Given the description of an element on the screen output the (x, y) to click on. 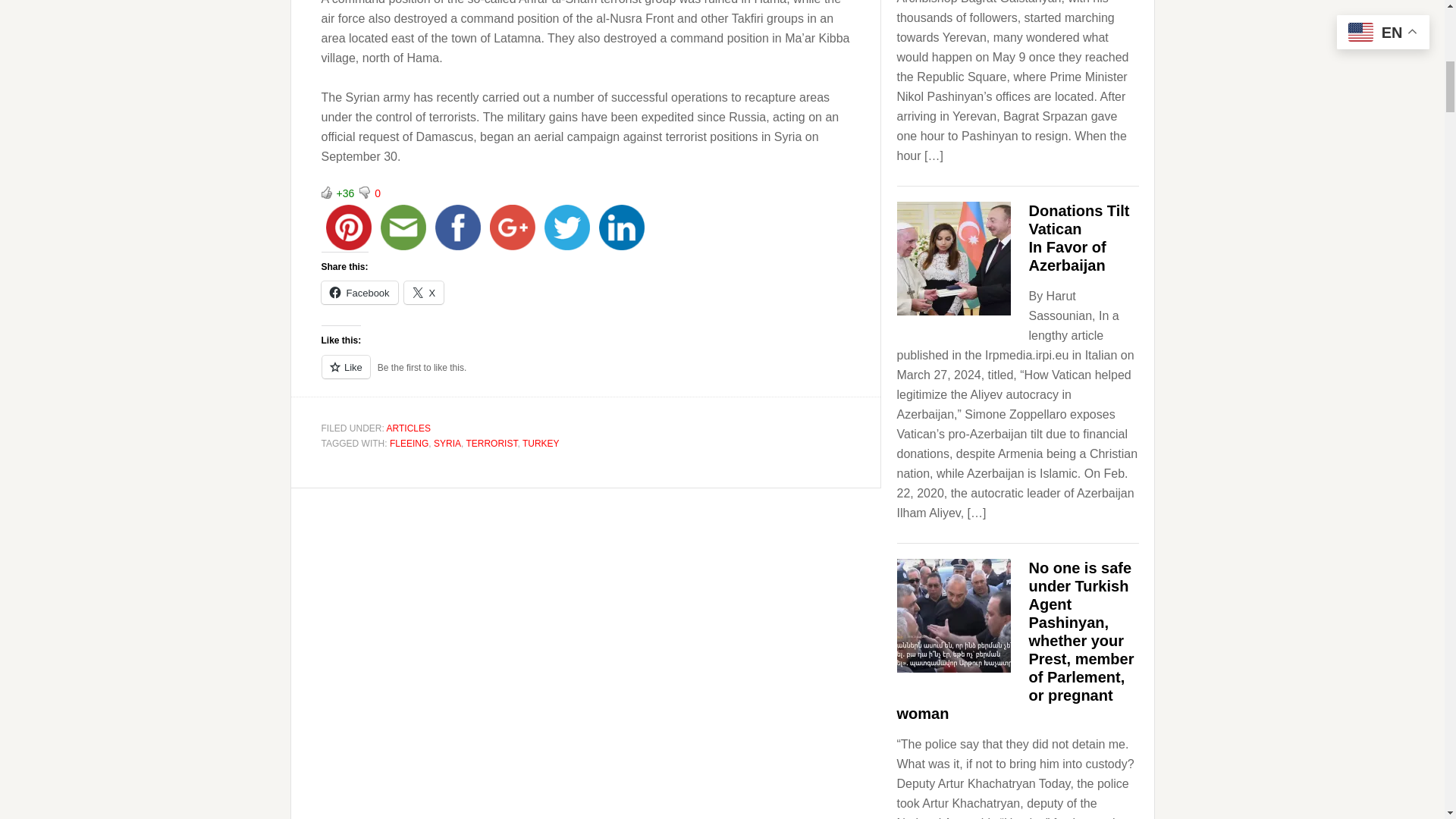
google (512, 226)
Unlike (364, 192)
twitter (567, 226)
ARTICLES (408, 428)
email (402, 226)
X (424, 292)
TURKEY (540, 443)
TERRORIST (490, 443)
Like (326, 192)
pinterest (348, 226)
facebook (457, 226)
Click to share on Facebook (359, 292)
linkedin (621, 226)
SYRIA (447, 443)
Facebook (359, 292)
